Given the description of an element on the screen output the (x, y) to click on. 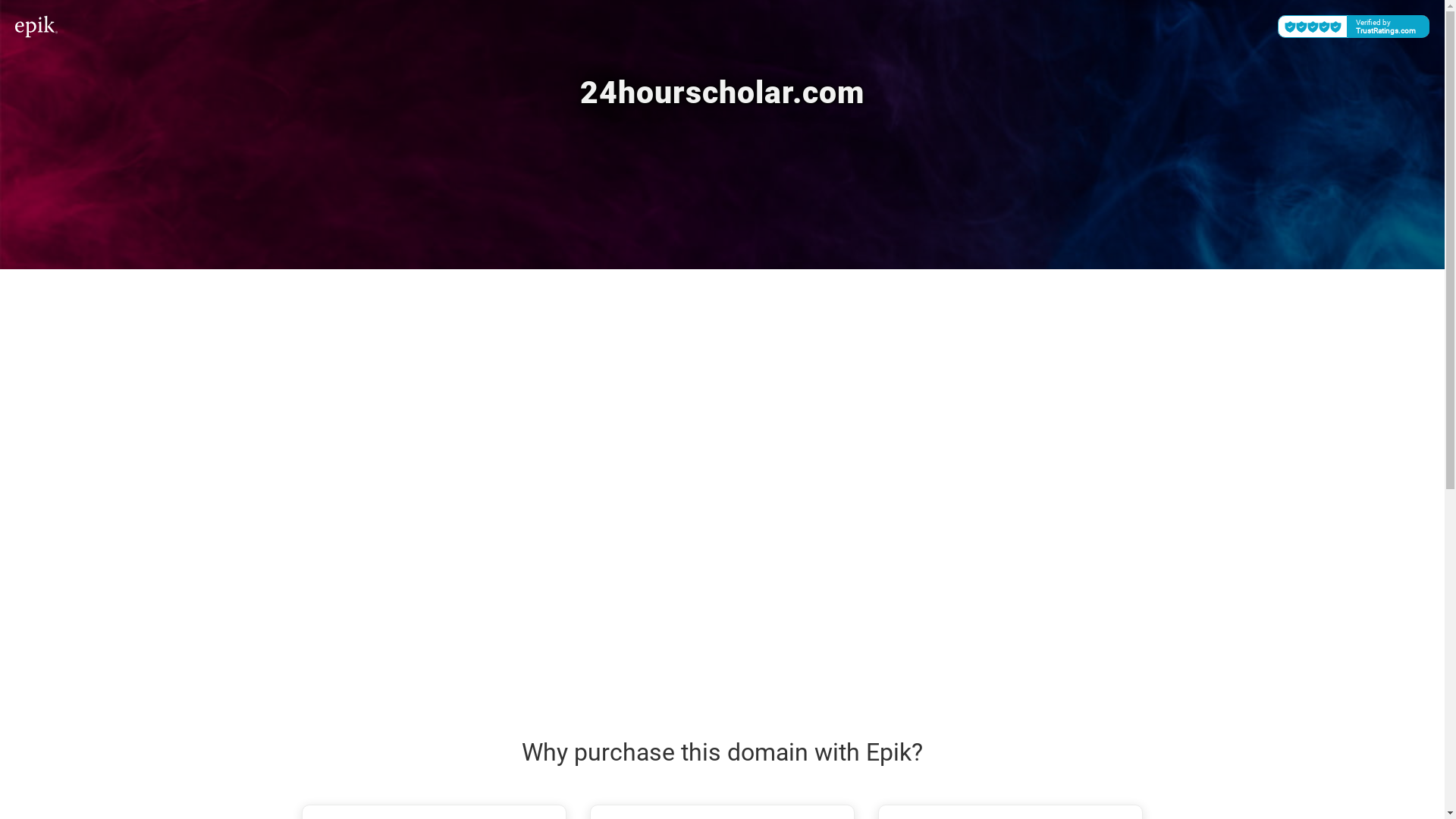
Verified by TrustRatings.com Element type: hover (1353, 26)
